Given the description of an element on the screen output the (x, y) to click on. 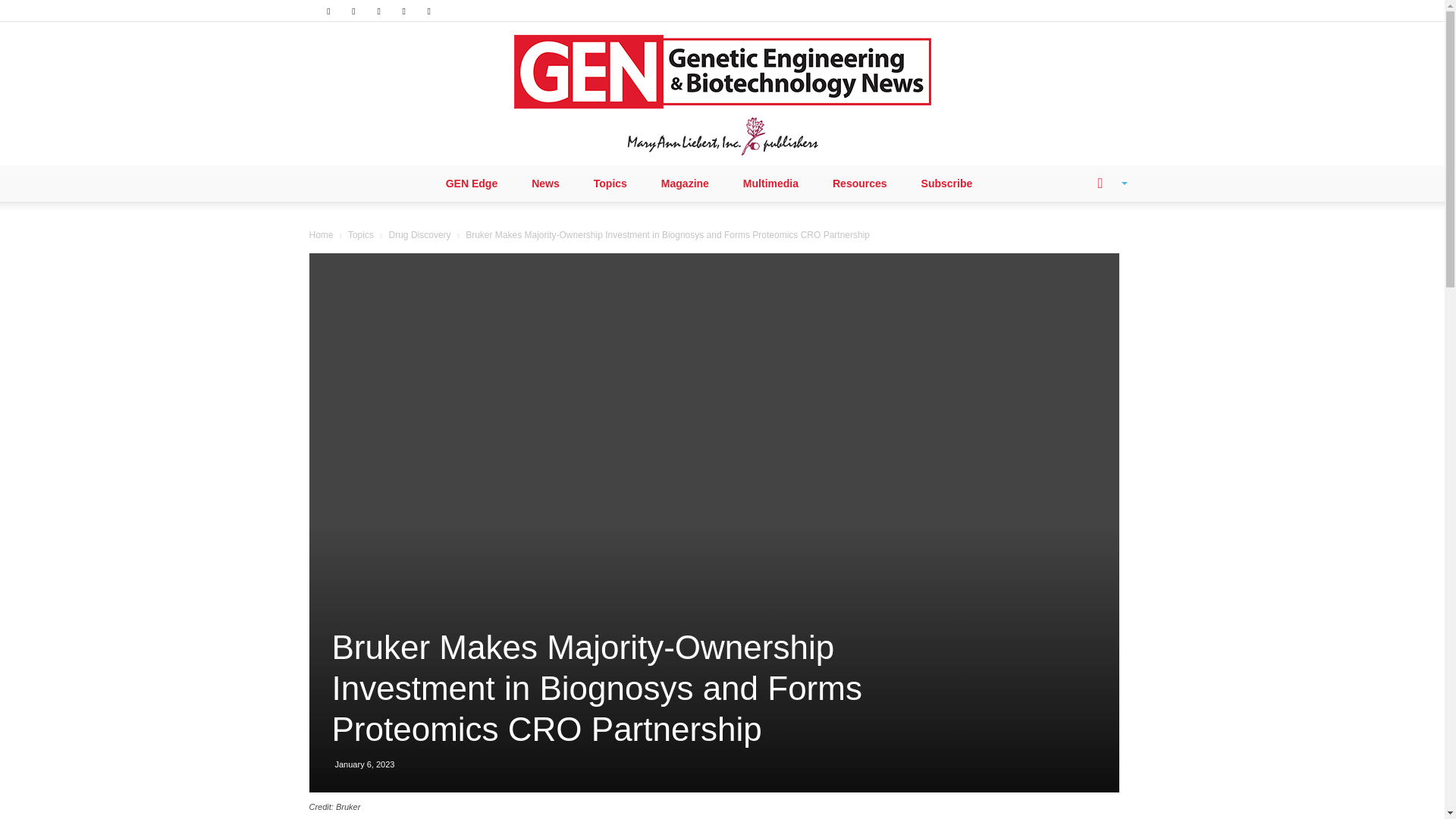
RSS (379, 10)
Linkedin (353, 10)
View all posts in Topics (360, 235)
View all posts in Drug Discovery (419, 235)
Twitter (403, 10)
Facebook (328, 10)
Youtube (429, 10)
